Given the description of an element on the screen output the (x, y) to click on. 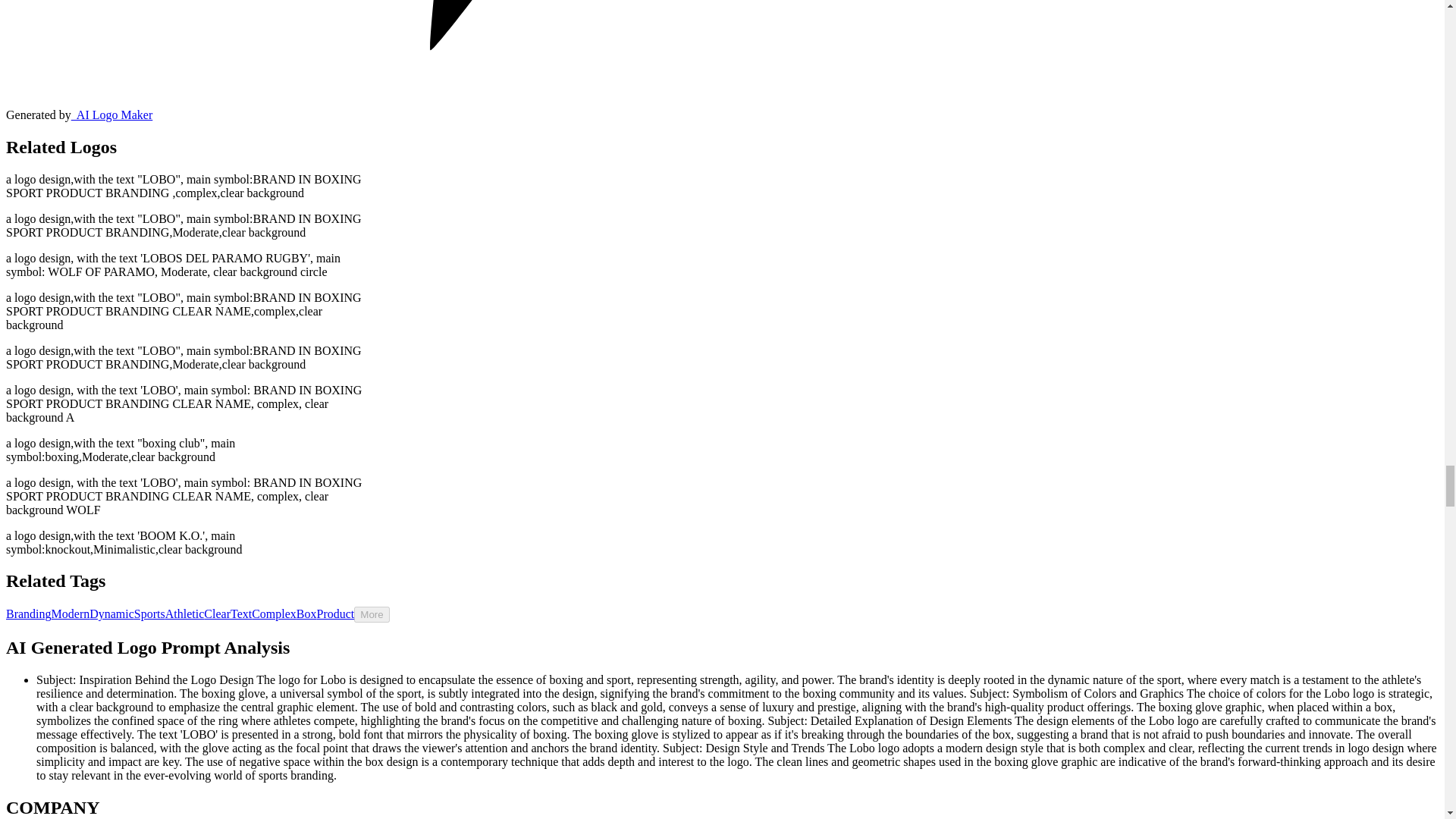
Branding (27, 613)
Box (307, 613)
Dynamic (110, 613)
Text (240, 613)
Athletic (185, 613)
  AI Logo Maker (111, 114)
Clear (216, 613)
Complex (274, 613)
Sports (149, 613)
More (370, 614)
